Given the description of an element on the screen output the (x, y) to click on. 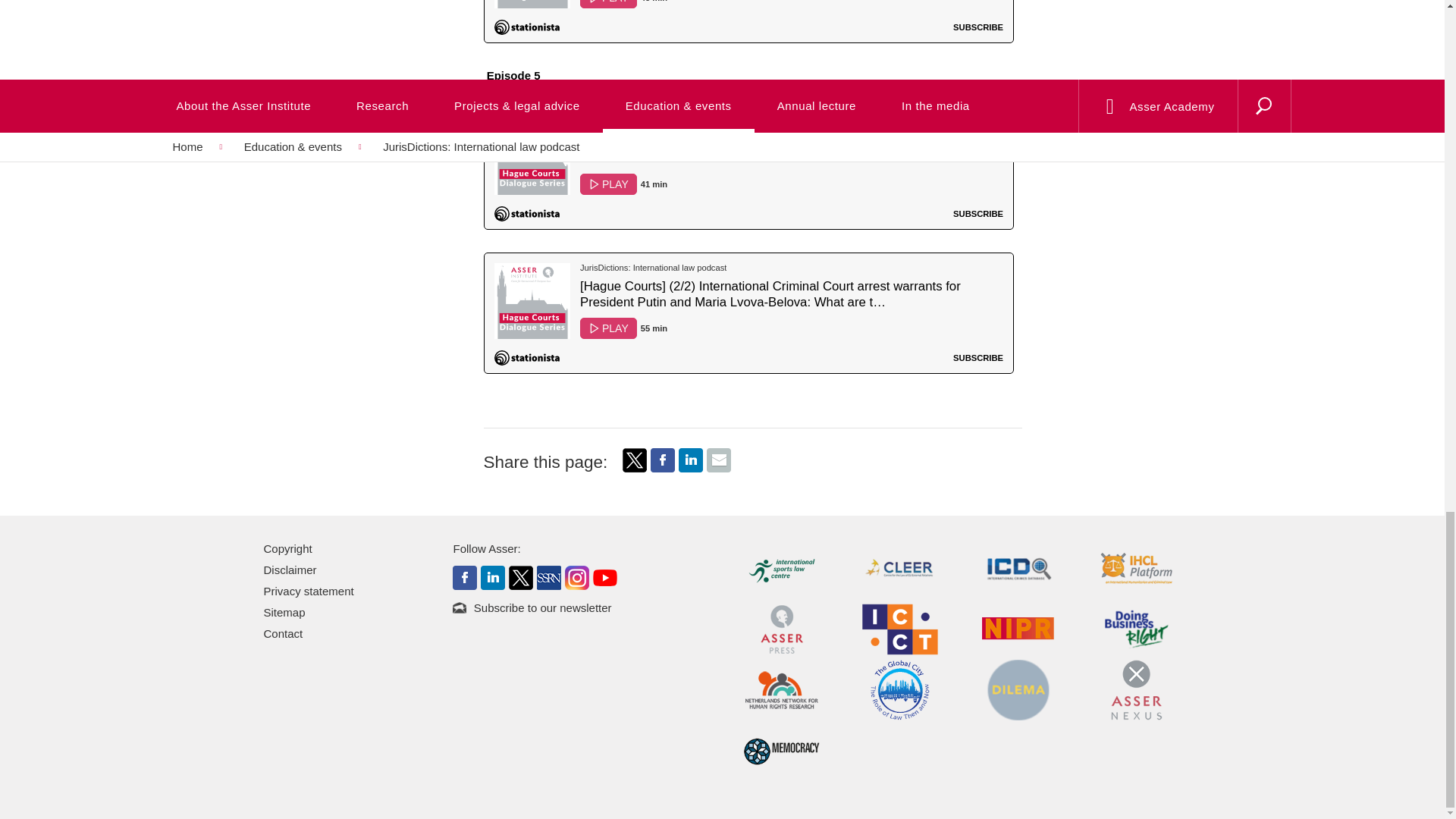
LinkedIn (690, 459)
Asser Press (781, 627)
Tweet (634, 459)
Follow us on Instagram (576, 576)
Facebook (662, 459)
Tweet (634, 467)
Like us on Facebook (464, 576)
Follow us on YouTube (604, 576)
Email (718, 459)
LinkedIn (690, 467)
